Given the description of an element on the screen output the (x, y) to click on. 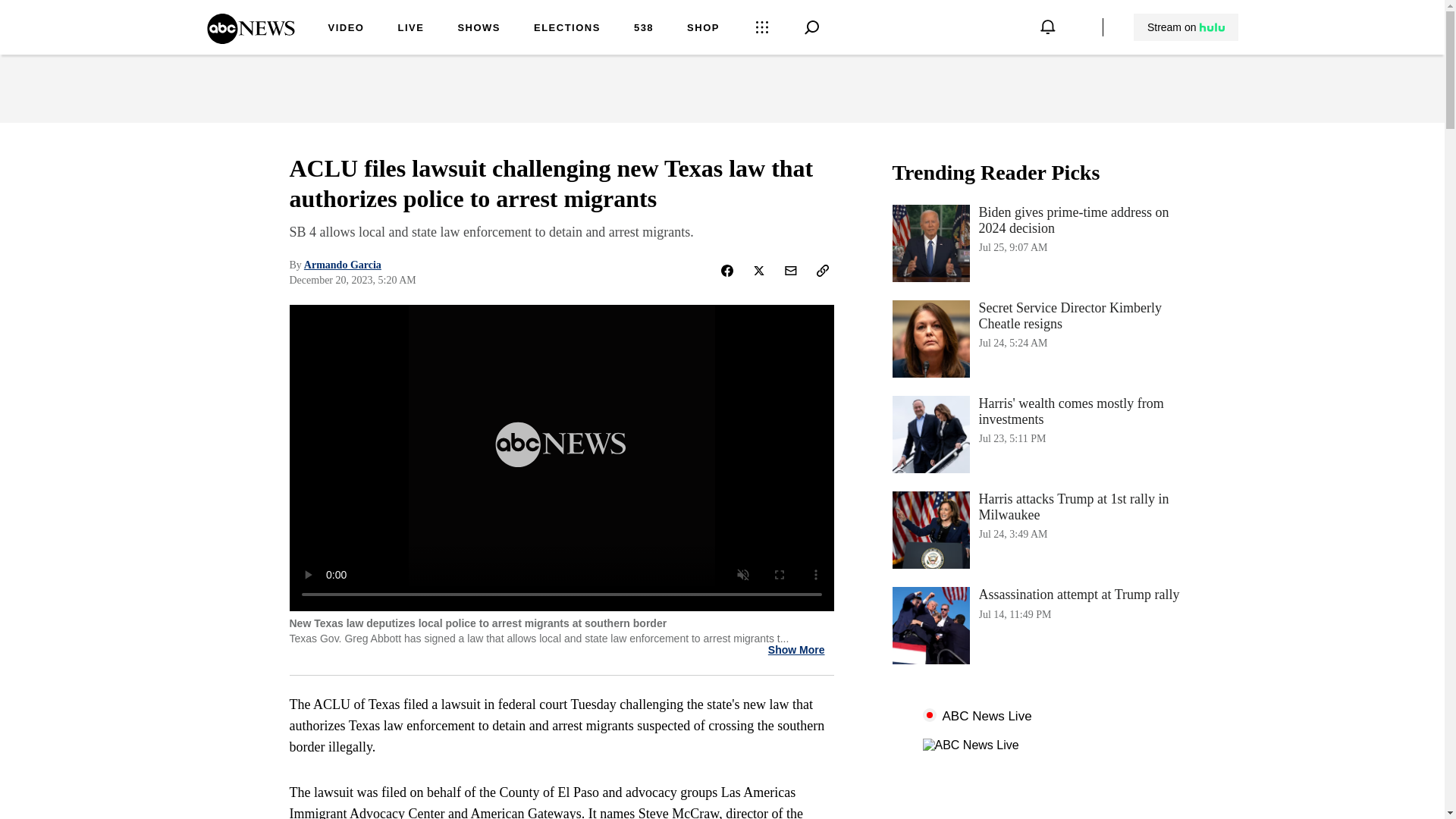
Show More (796, 649)
Stream on (1185, 27)
VIDEO (345, 28)
ELECTIONS (566, 28)
SHOP (1043, 625)
LIVE (703, 28)
538 (410, 28)
ABC News (643, 28)
SHOWS (1043, 434)
